Given the description of an element on the screen output the (x, y) to click on. 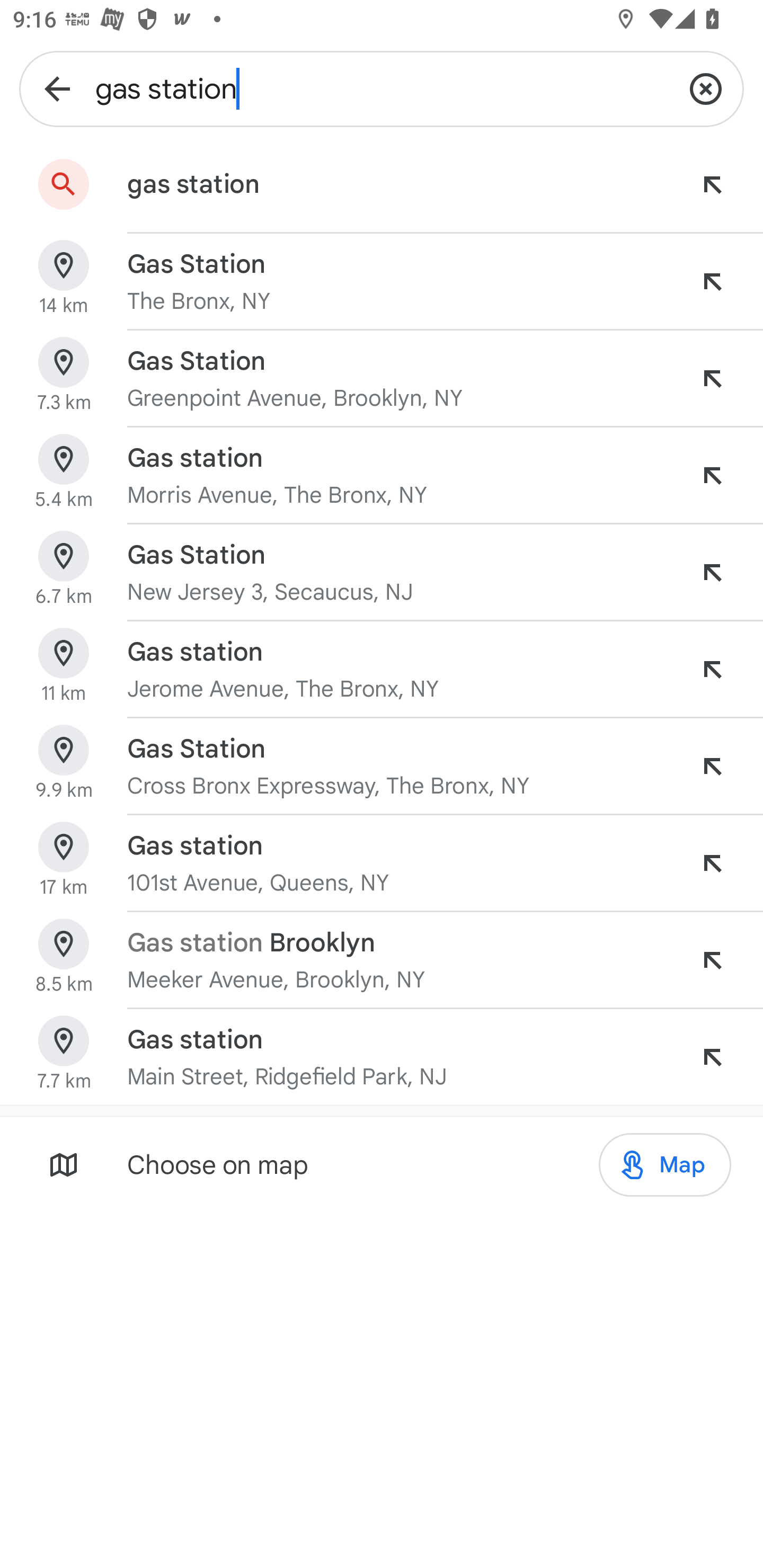
Navigate up (57, 88)
gas station (381, 88)
Clear (705, 88)
Choose on map Map Map Map (381, 1164)
Map Map Map (664, 1164)
